Given the description of an element on the screen output the (x, y) to click on. 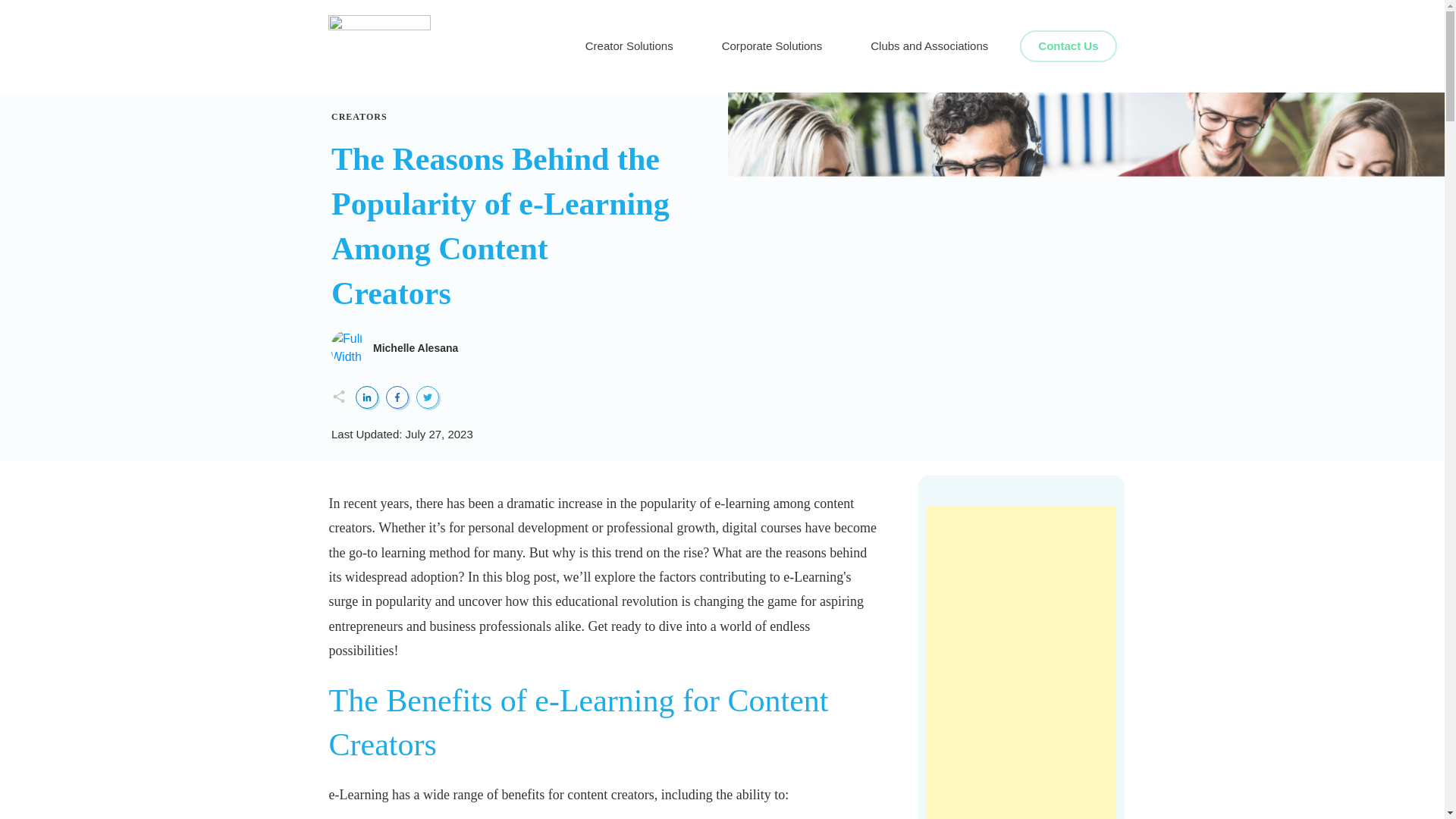
Contact Us (1067, 46)
Clubs and Associations (929, 46)
CREATORS (359, 116)
Creators (359, 116)
Corporate Solutions (772, 46)
Full Width Featured Image With Sidebar (348, 347)
Creator Solutions (628, 46)
